Given the description of an element on the screen output the (x, y) to click on. 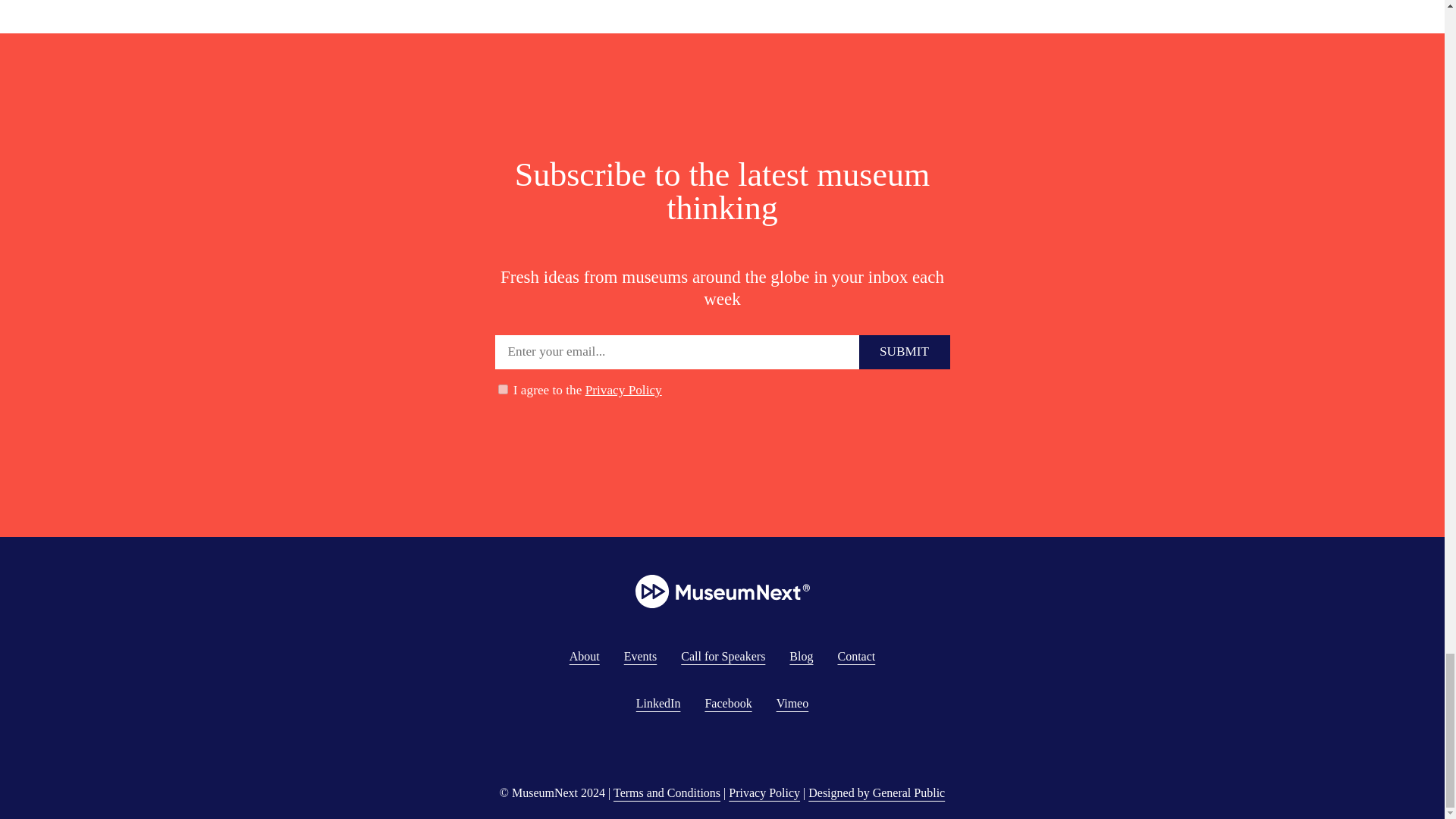
Vimeo (792, 703)
Submit (904, 351)
LinkedIn (658, 703)
1 (501, 388)
Call for Speakers (723, 656)
Privacy Policy (623, 390)
Facebook (727, 703)
Events (641, 656)
Blog (800, 656)
About (584, 656)
Contact (856, 656)
Submit (904, 351)
